Given the description of an element on the screen output the (x, y) to click on. 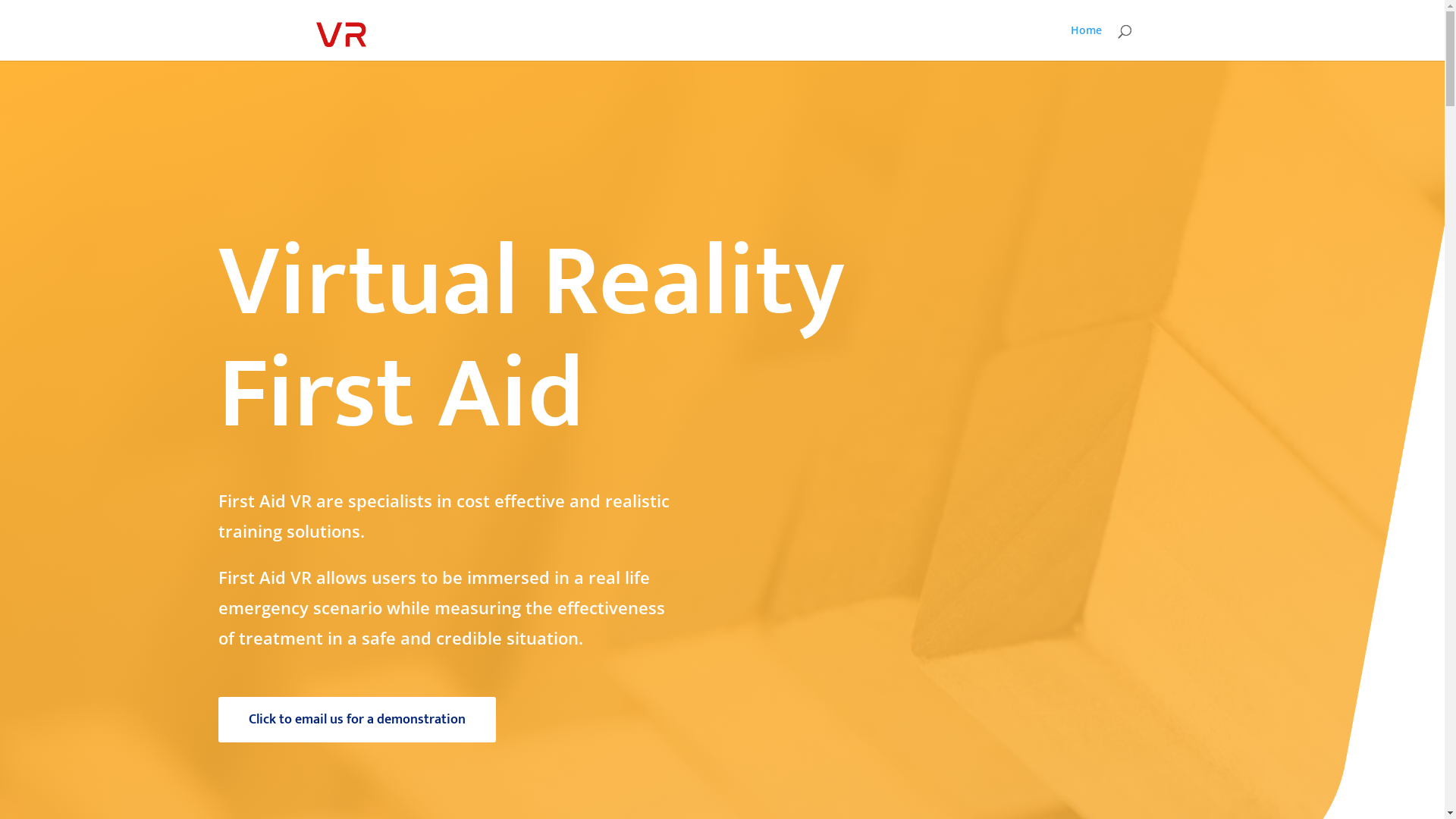
Click to email us for a demonstration Element type: text (356, 719)
Home Element type: text (1085, 42)
